Given the description of an element on the screen output the (x, y) to click on. 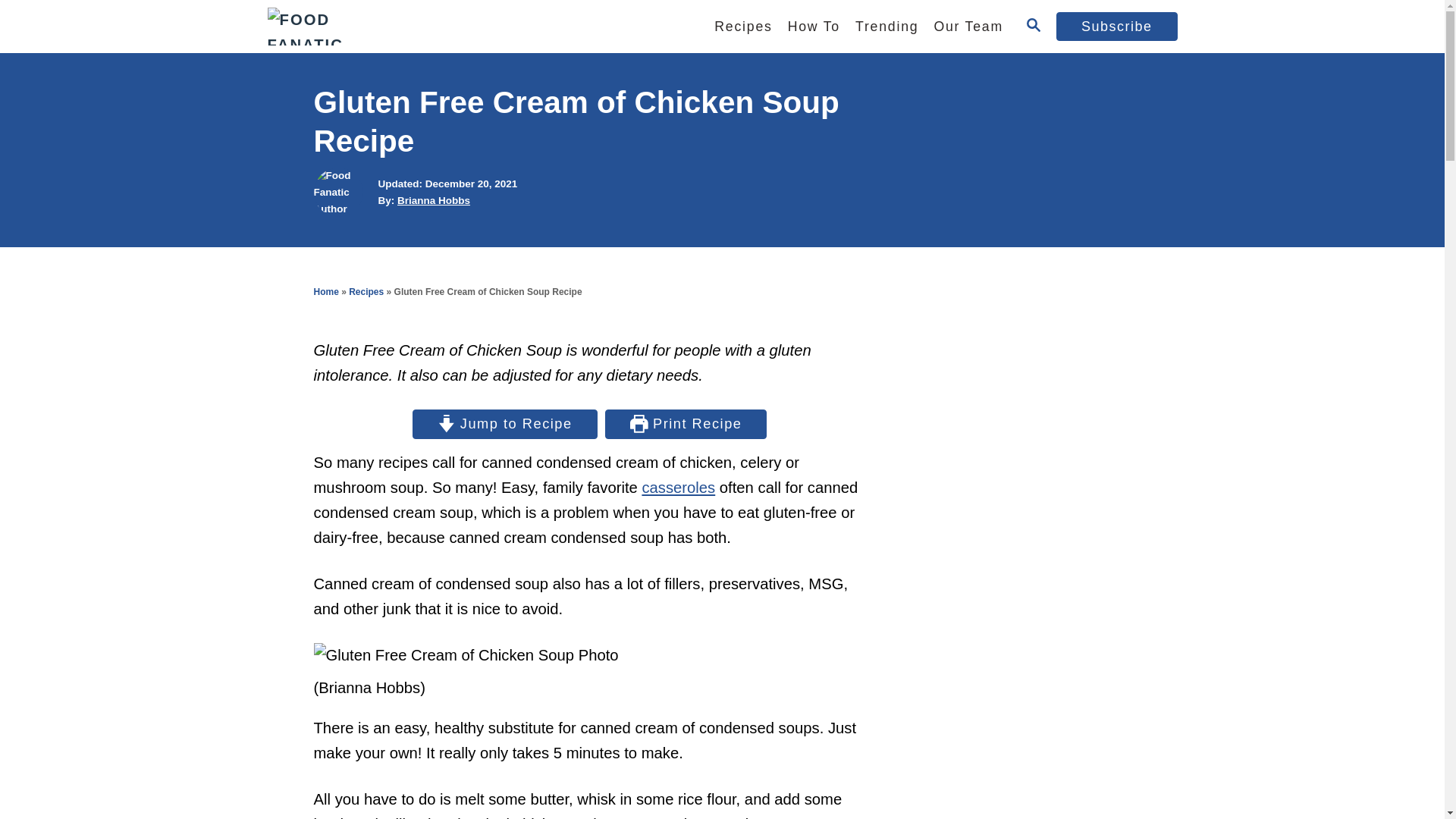
How To (813, 26)
Recipes (742, 26)
Food Fanatic (403, 26)
SEARCH (1033, 26)
